Given the description of an element on the screen output the (x, y) to click on. 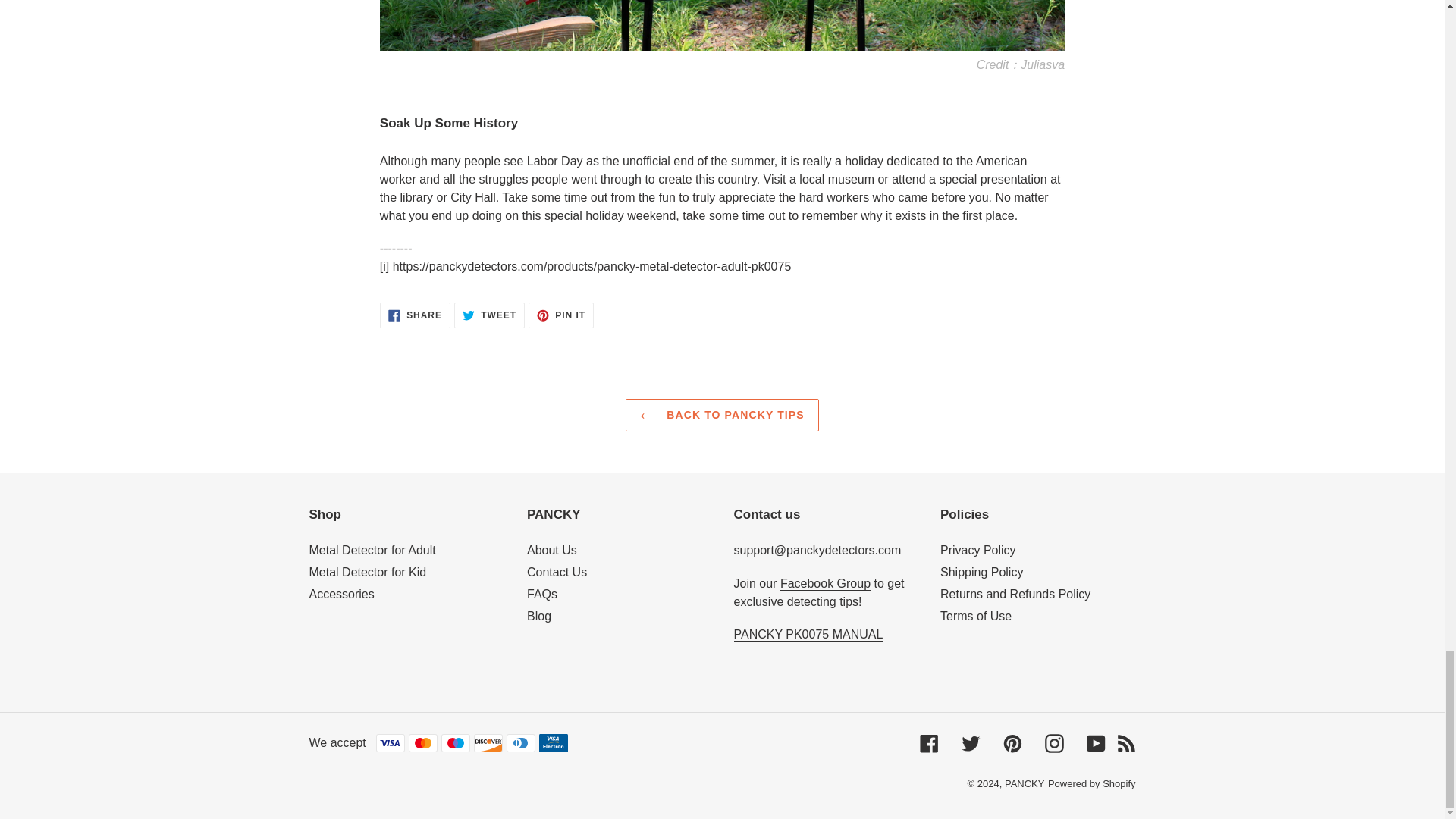
Discover (488, 742)
Visa (389, 742)
Maestro (455, 742)
Mastercard (414, 315)
Visa Electron (423, 742)
Diners Club (552, 742)
